Given the description of an element on the screen output the (x, y) to click on. 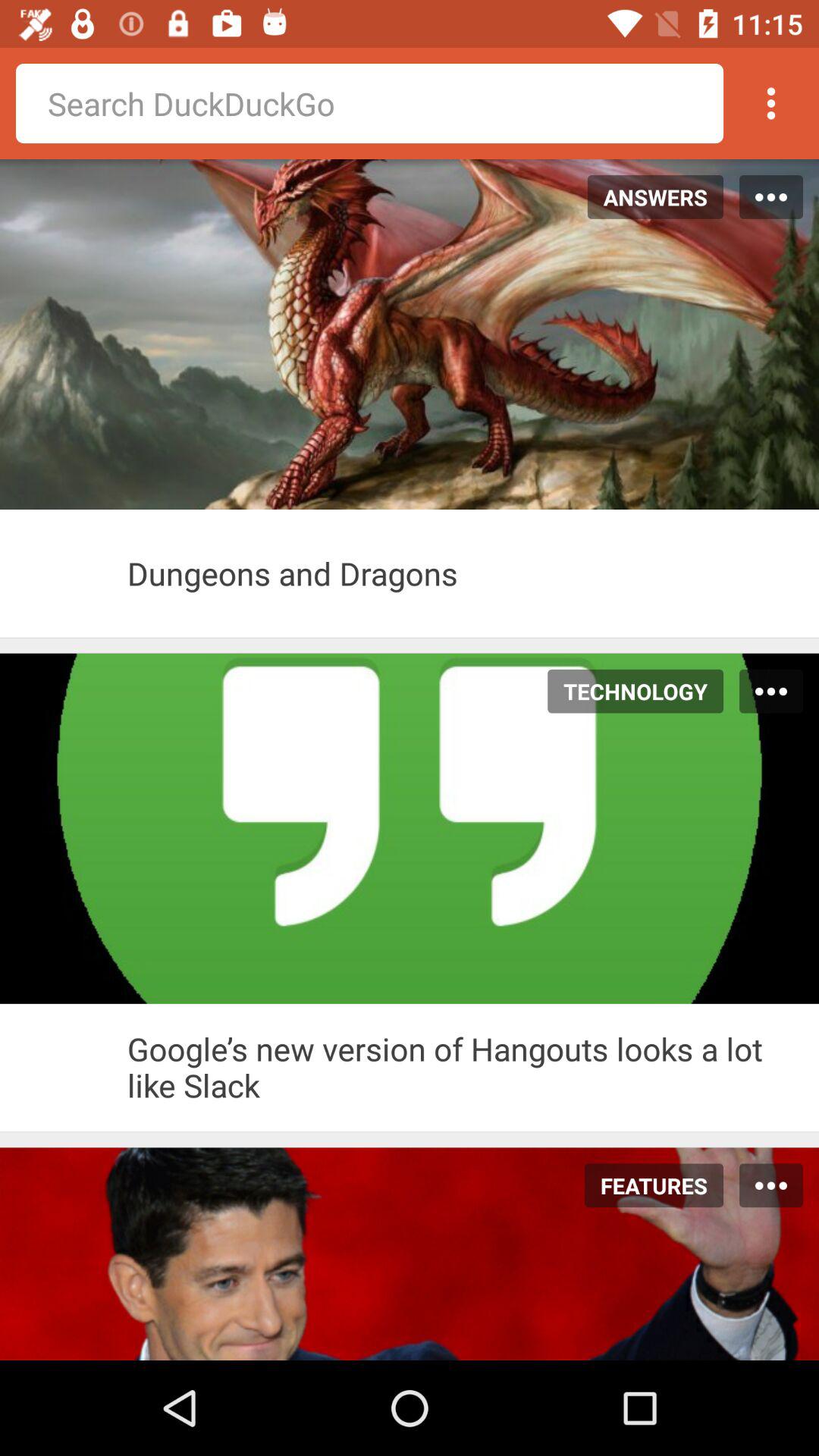
options (771, 103)
